Given the description of an element on the screen output the (x, y) to click on. 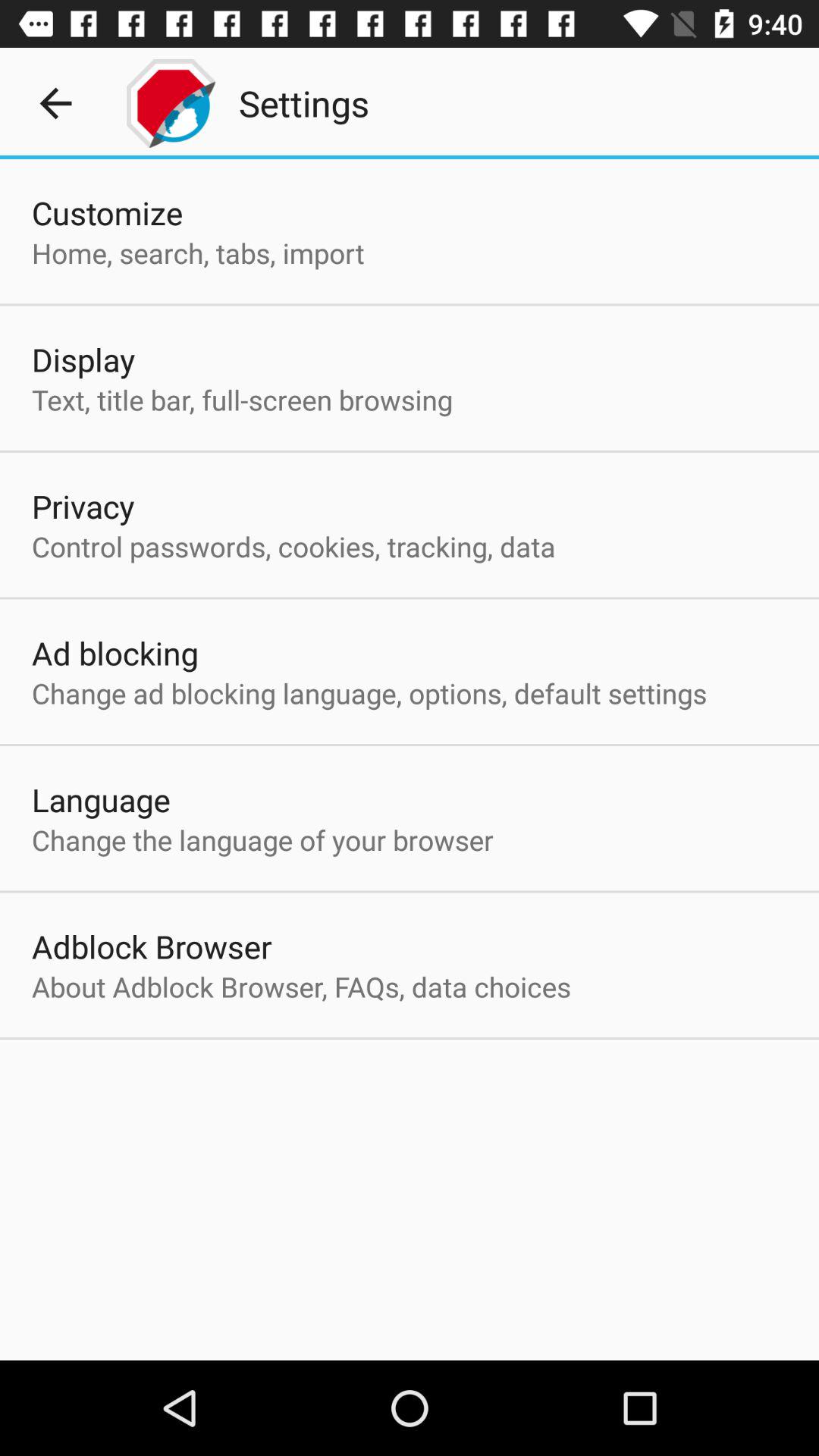
select the icon above the privacy (241, 399)
